Given the description of an element on the screen output the (x, y) to click on. 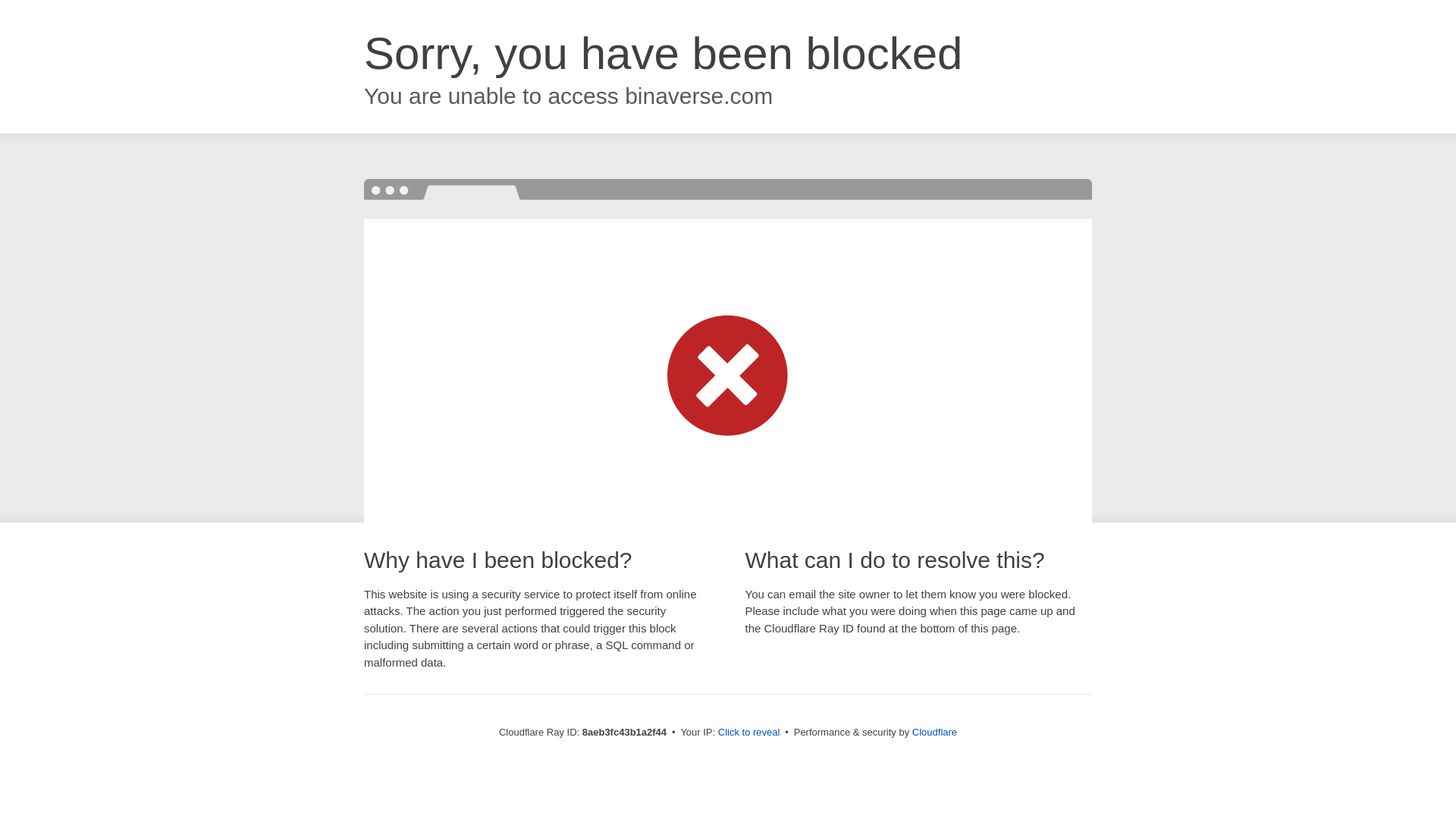
Click to reveal (748, 732)
Cloudflare (934, 731)
